Given the description of an element on the screen output the (x, y) to click on. 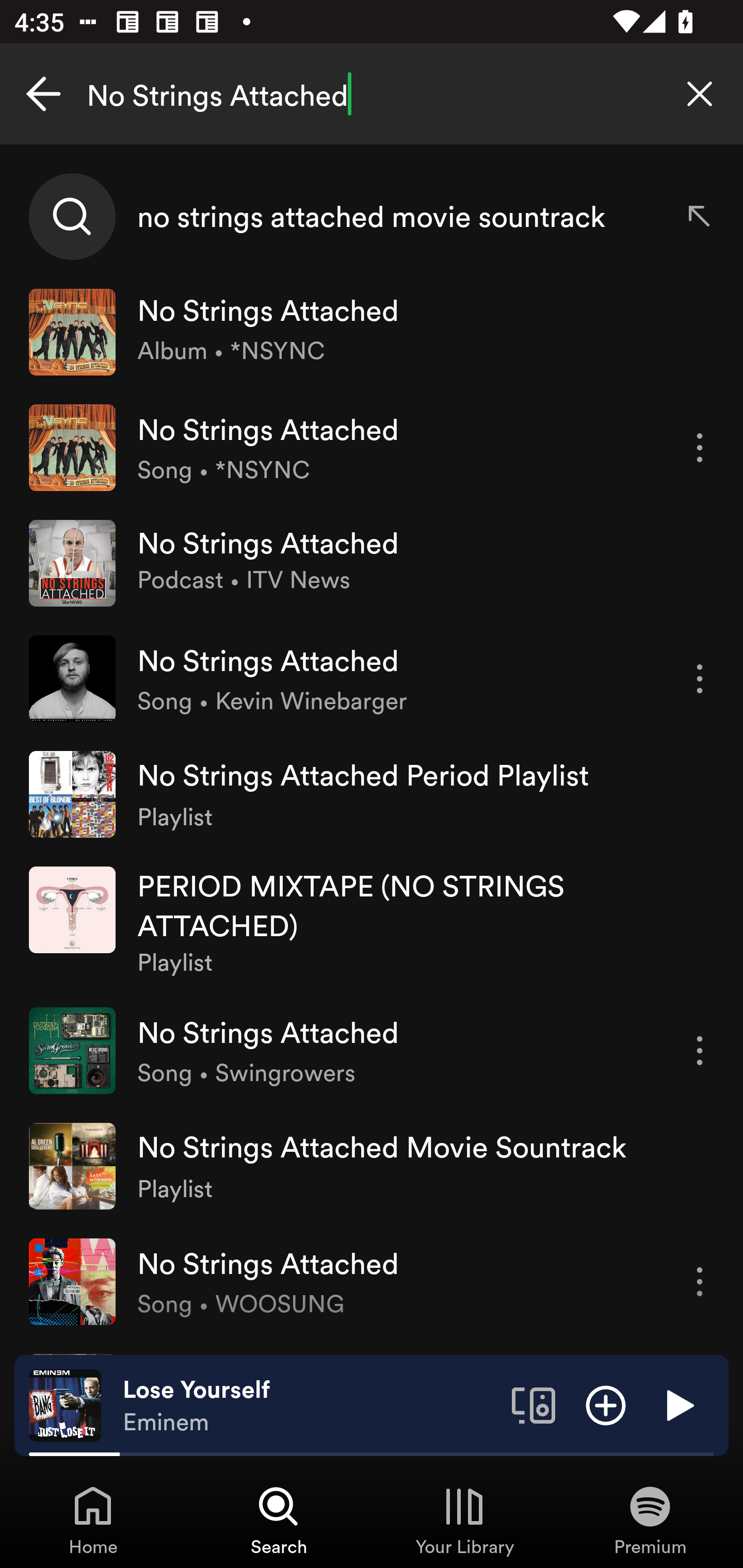
No Strings Attached (371, 93)
Cancel (43, 93)
Clear search query (699, 93)
no strings attached movie sountrack (371, 216)
No Strings Attached Album • *NSYNC (371, 332)
More options for song No Strings Attached (699, 447)
No Strings Attached Podcast • ITV News (371, 562)
More options for song No Strings Attached (699, 678)
No Strings Attached Period Playlist Playlist (371, 793)
PERIOD MIXTAPE (NO STRINGS ATTACHED) Playlist (371, 921)
More options for song No Strings Attached (699, 1050)
No Strings Attached Movie Sountrack Playlist (371, 1166)
More options for song No Strings Attached (699, 1281)
Lose Yourself Eminem (309, 1405)
The cover art of the currently playing track (64, 1404)
Connect to a device. Opens the devices menu (533, 1404)
Add item (605, 1404)
Play (677, 1404)
Home, Tab 1 of 4 Home Home (92, 1519)
Search, Tab 2 of 4 Search Search (278, 1519)
Your Library, Tab 3 of 4 Your Library Your Library (464, 1519)
Premium, Tab 4 of 4 Premium Premium (650, 1519)
